Given the description of an element on the screen output the (x, y) to click on. 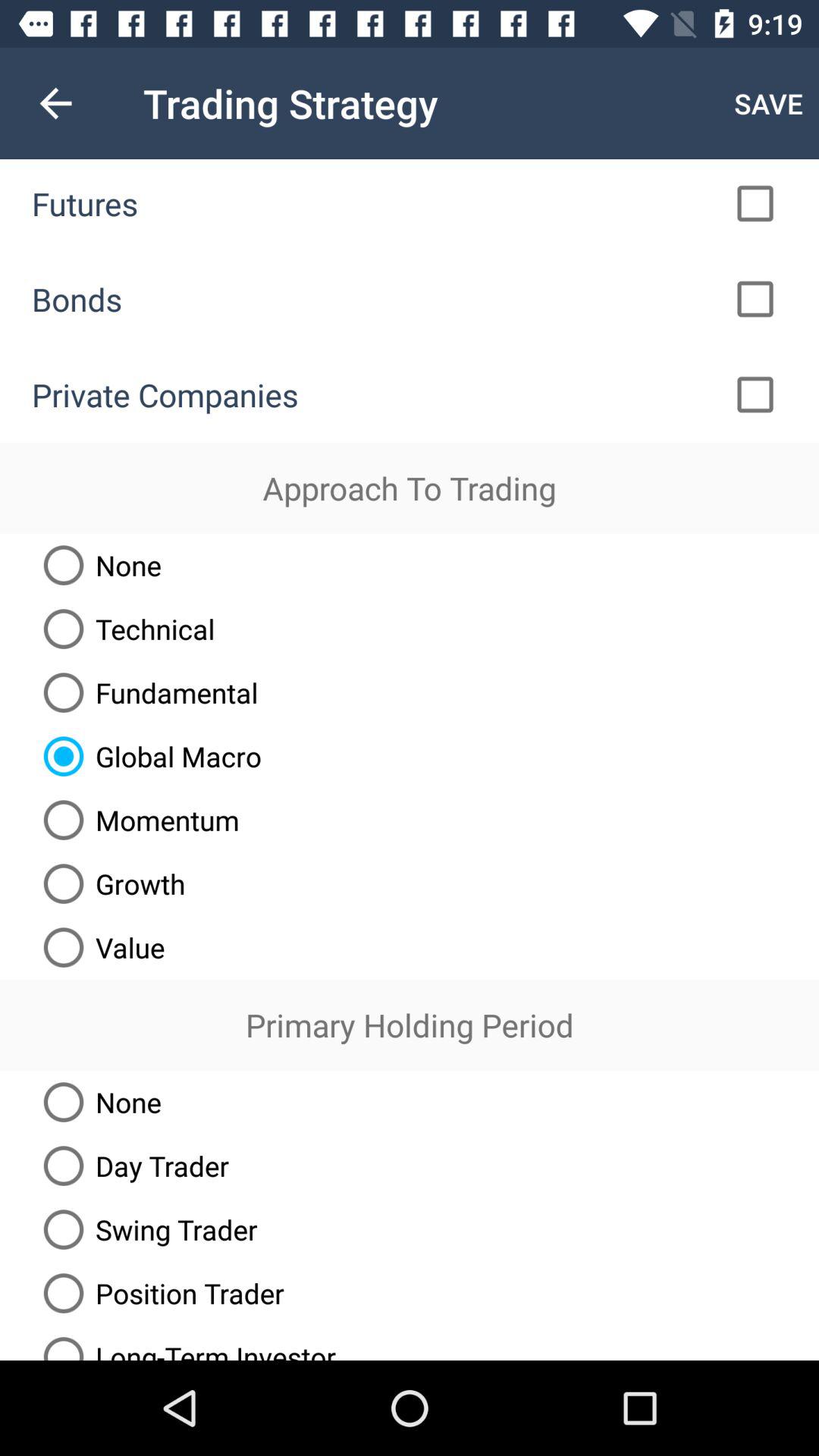
swipe until the fundamental (144, 692)
